Given the description of an element on the screen output the (x, y) to click on. 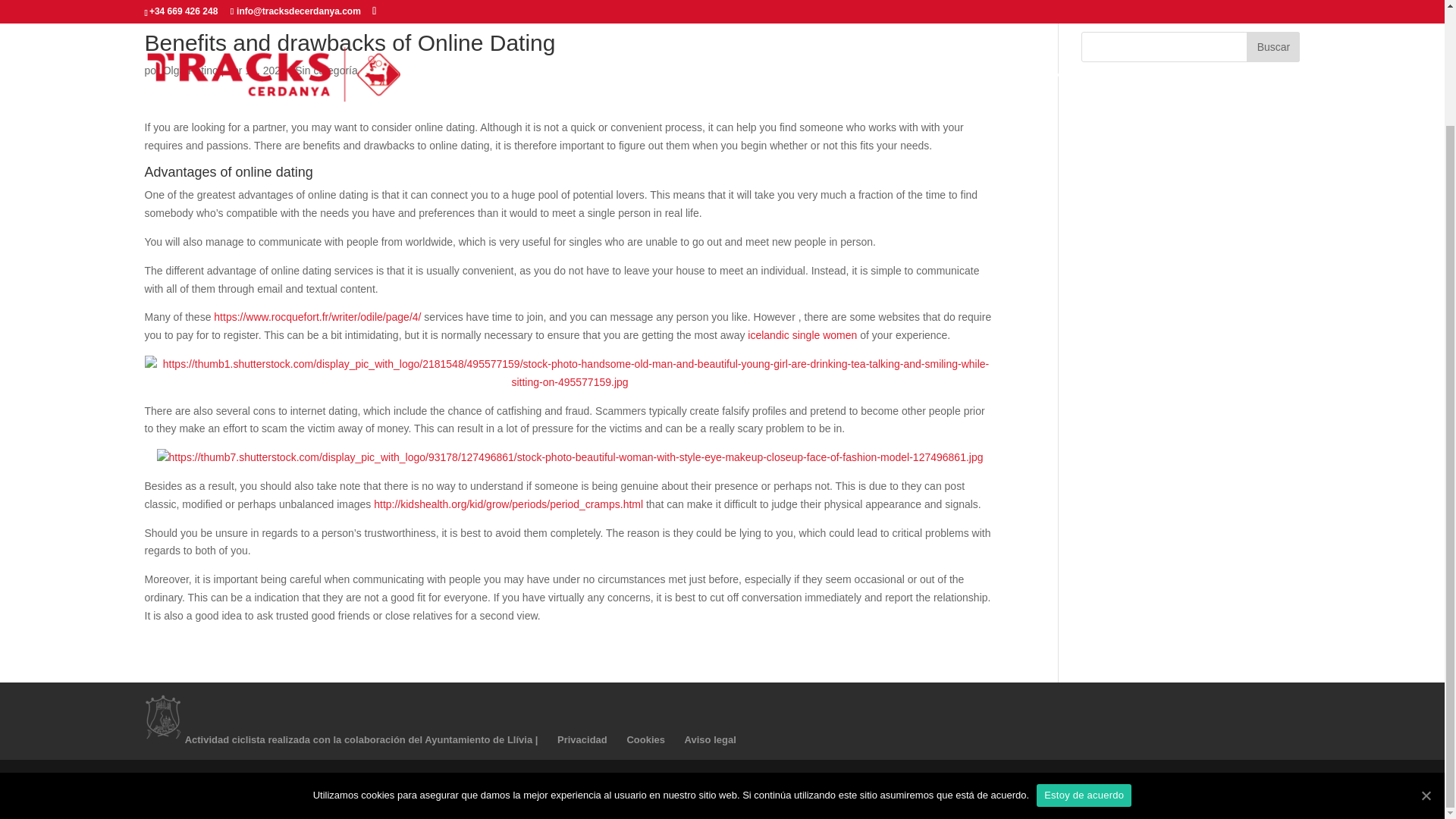
Mensajes de Olga Patino (190, 70)
Olga Patino (190, 70)
Olga Patino (226, 797)
icelandic single women (802, 335)
Privacidad (582, 739)
Estoy de acuerdo (1083, 658)
Buscar (1273, 46)
Buscar (1273, 46)
Aviso legal (710, 739)
Cookies (645, 739)
